Given the description of an element on the screen output the (x, y) to click on. 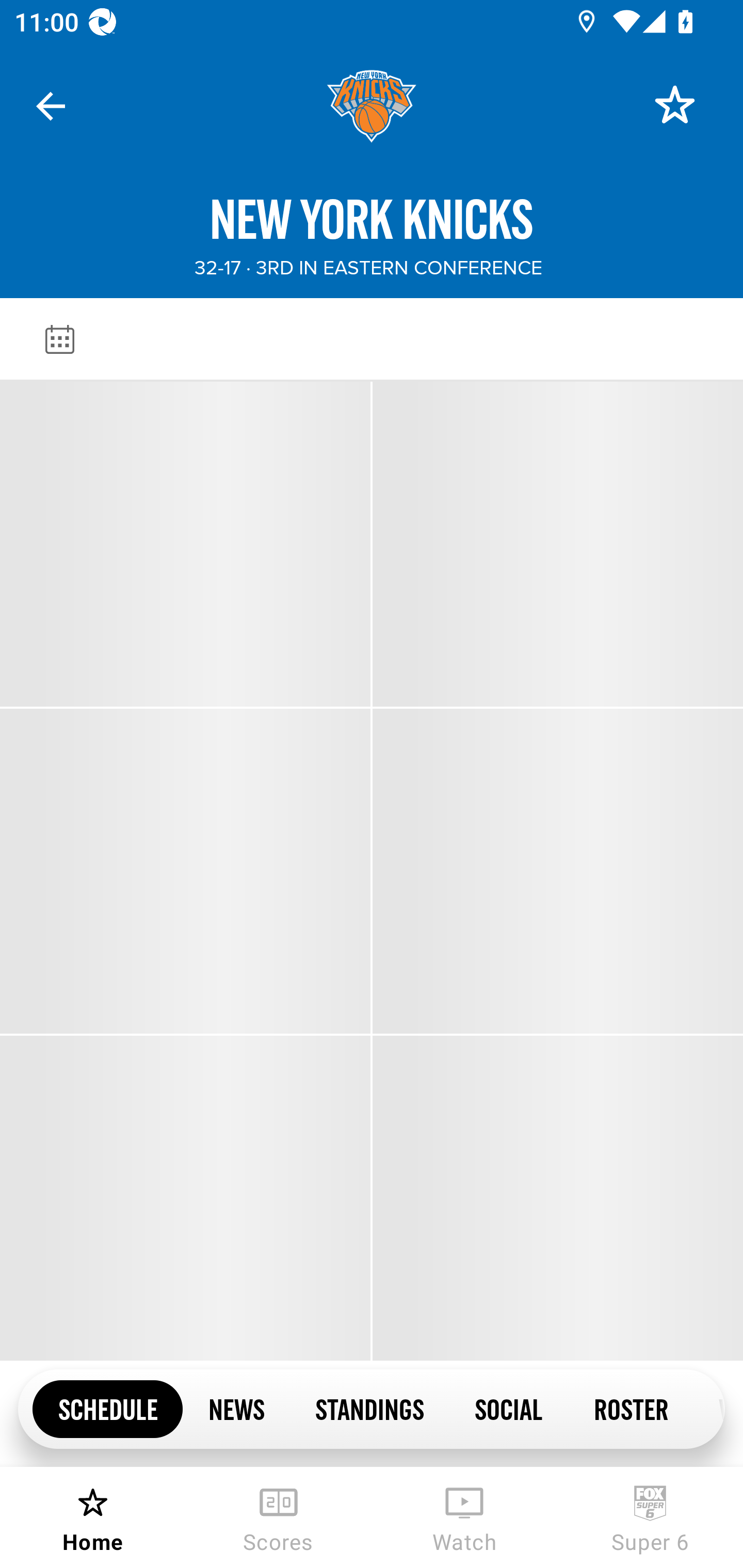
Navigate up (50, 106)
32-17 · 3RD IN EASTERN CONFERENCE (368, 267)
NEWS (235, 1408)
STANDINGS (369, 1408)
SOCIAL (508, 1408)
ROSTER (630, 1408)
Scores (278, 1517)
Watch (464, 1517)
Super 6 (650, 1517)
